Given the description of an element on the screen output the (x, y) to click on. 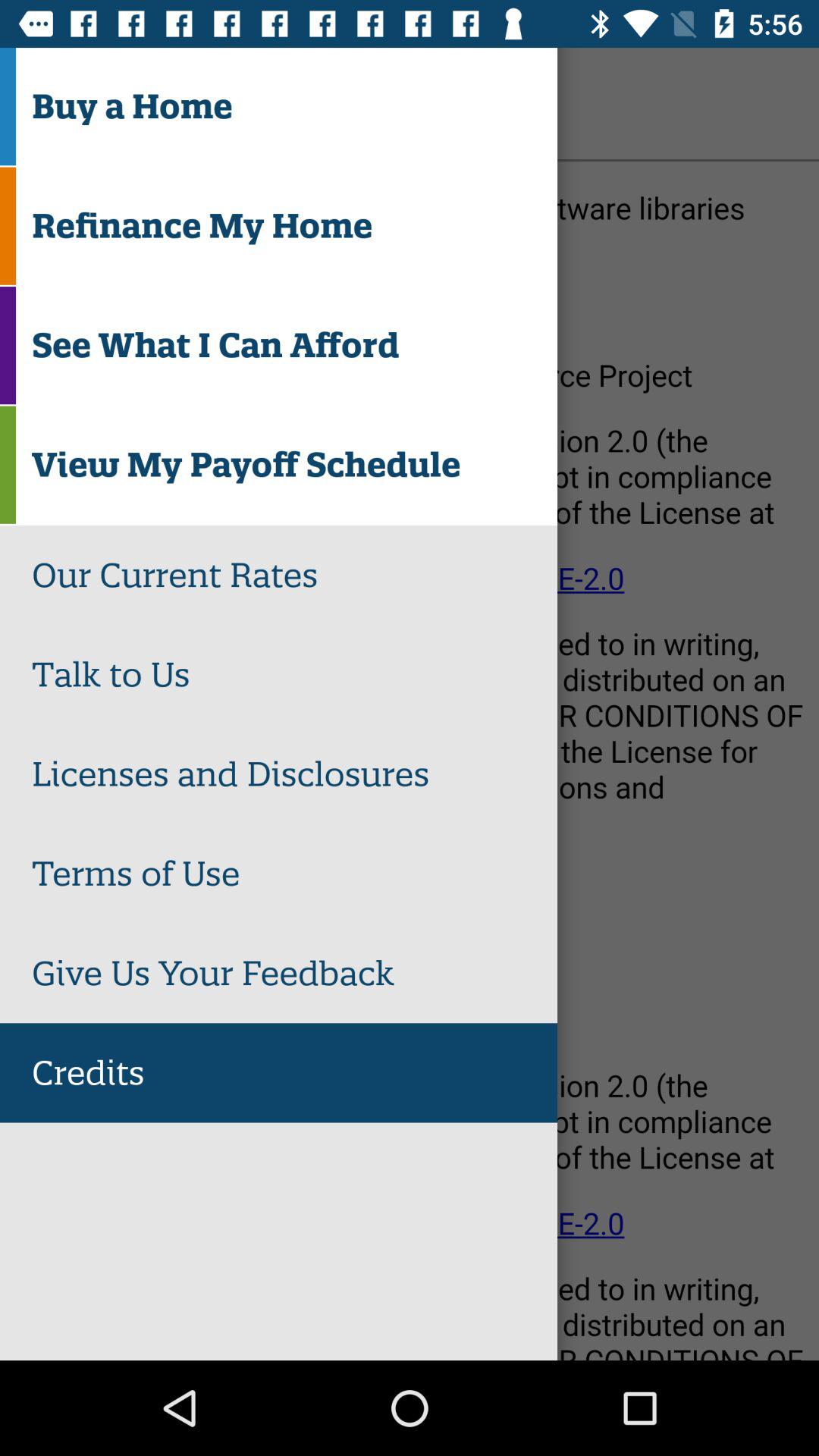
launch the item above talk to us (294, 575)
